Given the description of an element on the screen output the (x, y) to click on. 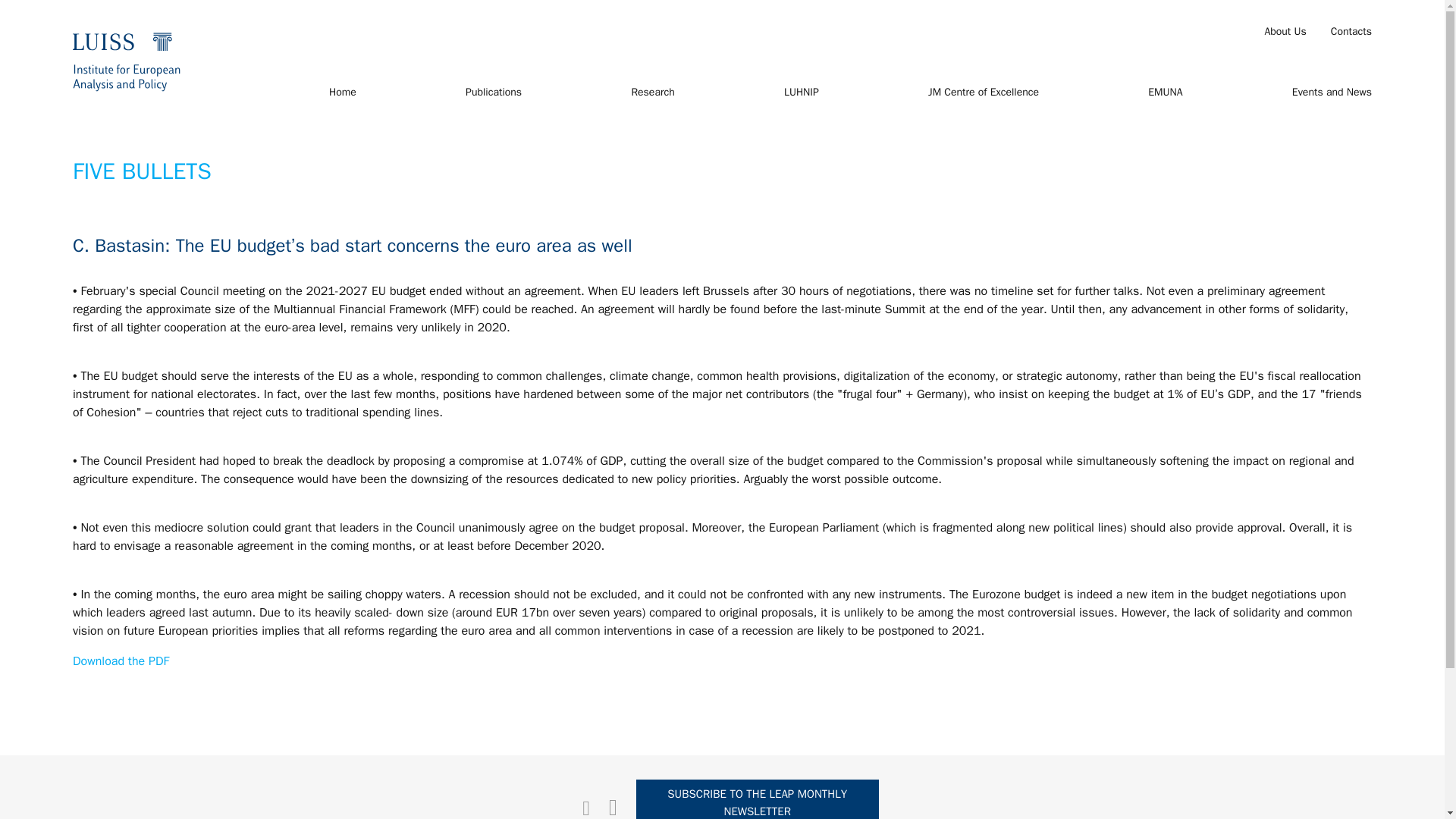
SUBSCRIBE TO THE LEAP MONTHLY NEWSLETTER (757, 799)
Download the PDF (120, 661)
Publications (493, 92)
EMUNA (1165, 92)
Events and News (1331, 92)
About Us (1284, 31)
Home (342, 92)
Contacts (1350, 31)
JM Centre of Excellence (983, 92)
Research (652, 92)
